Given the description of an element on the screen output the (x, y) to click on. 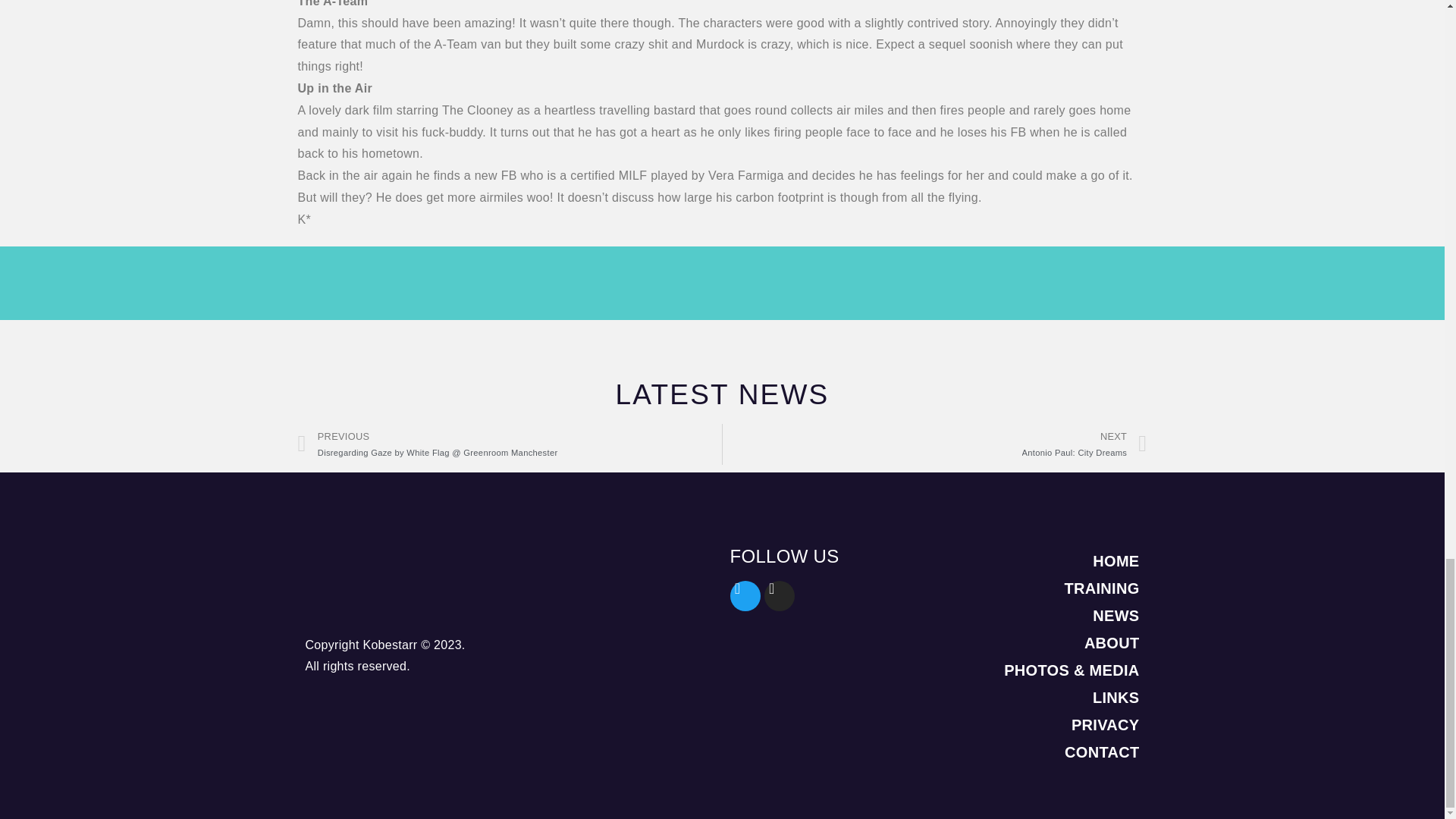
CONTACT (1020, 751)
NEWS (1020, 615)
TRAINING (1020, 587)
ABOUT (1020, 642)
PRIVACY (1020, 724)
HOME (934, 444)
LINKS (1020, 560)
